Given the description of an element on the screen output the (x, y) to click on. 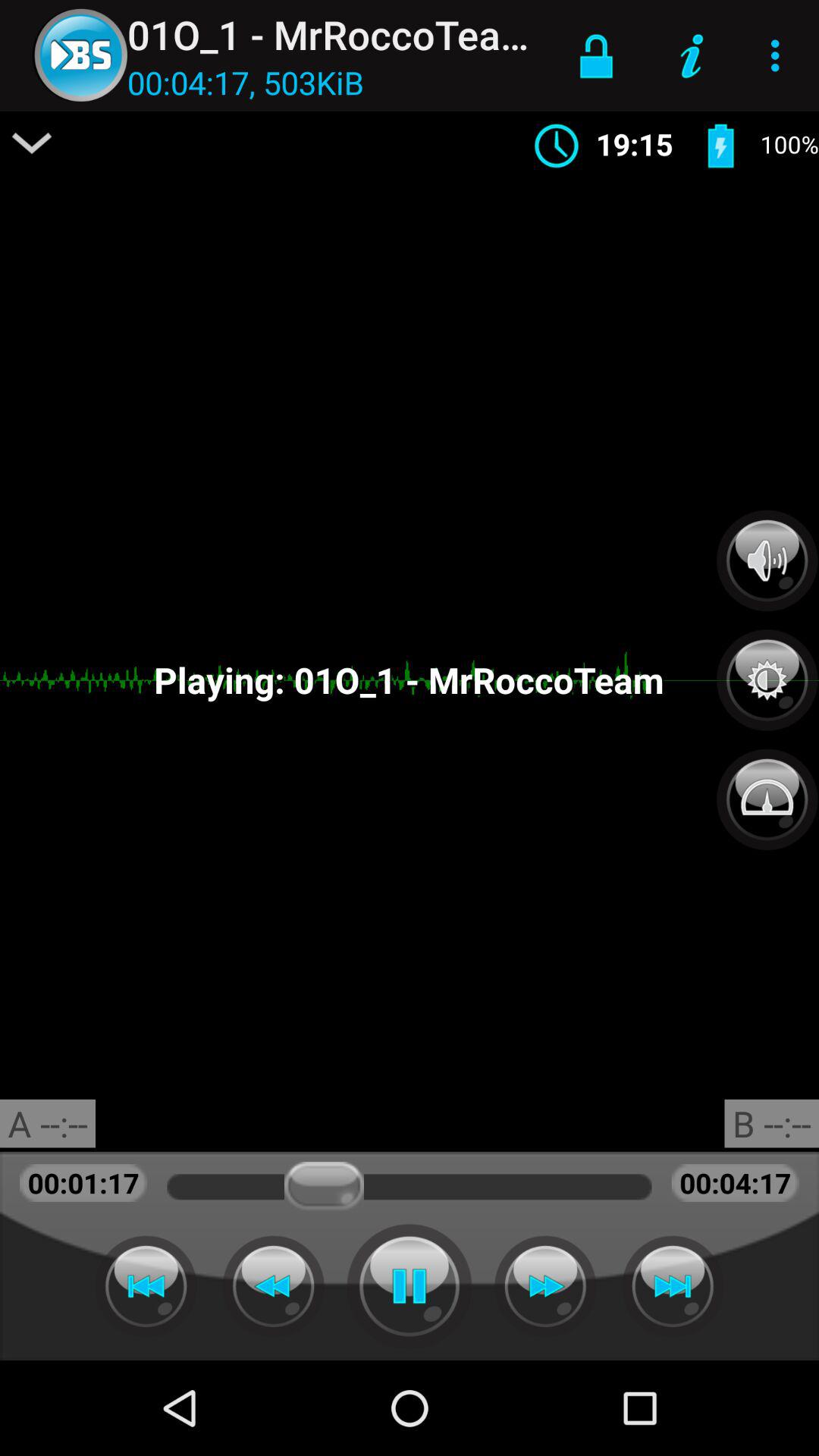
previous track (145, 1286)
